Given the description of an element on the screen output the (x, y) to click on. 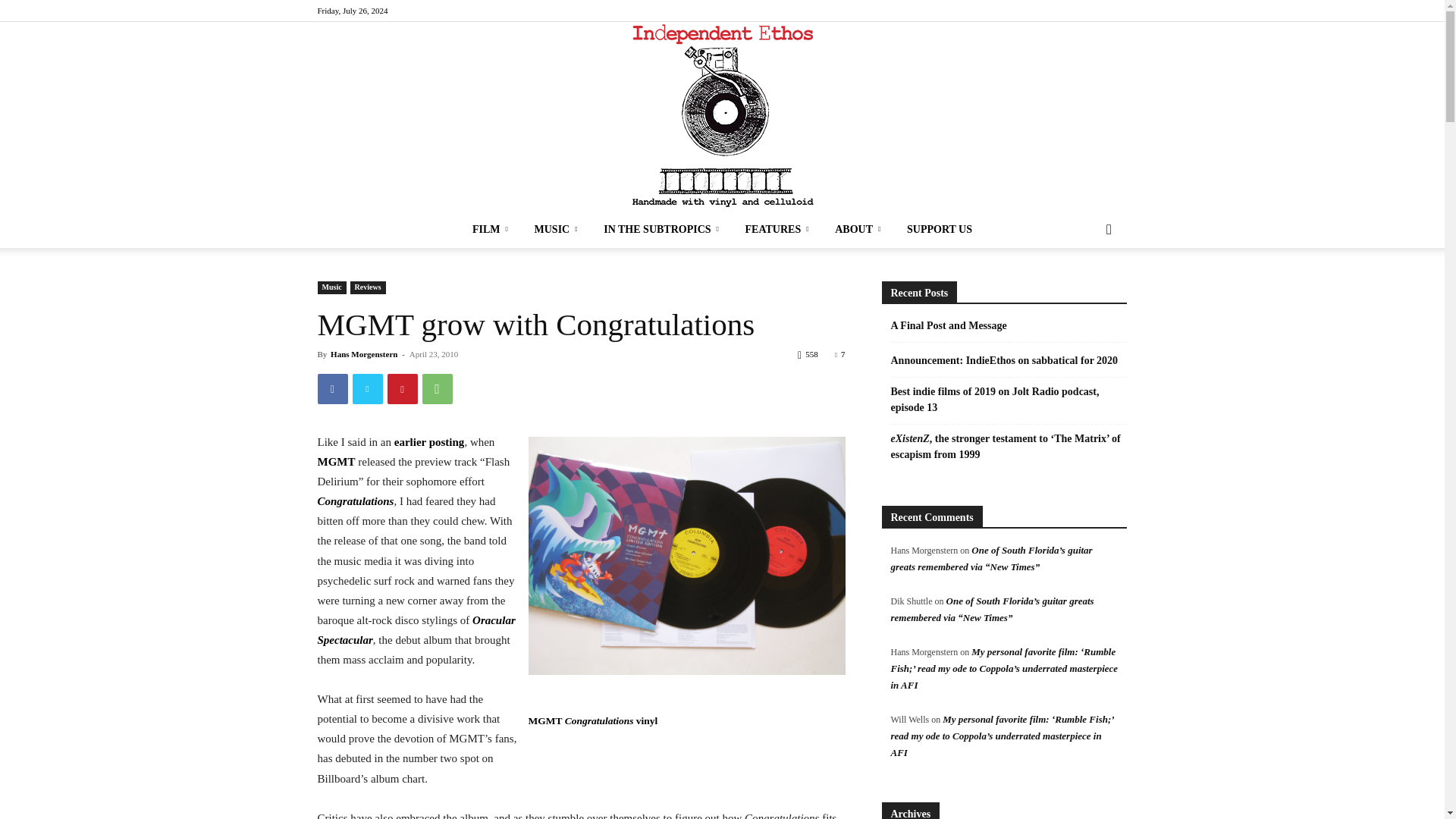
Instagram (1114, 10)
Facebook (1090, 10)
MUSIC (559, 229)
Independent Ethos (721, 116)
IN THE SUBTROPICS (662, 229)
FILM (492, 229)
